Given the description of an element on the screen output the (x, y) to click on. 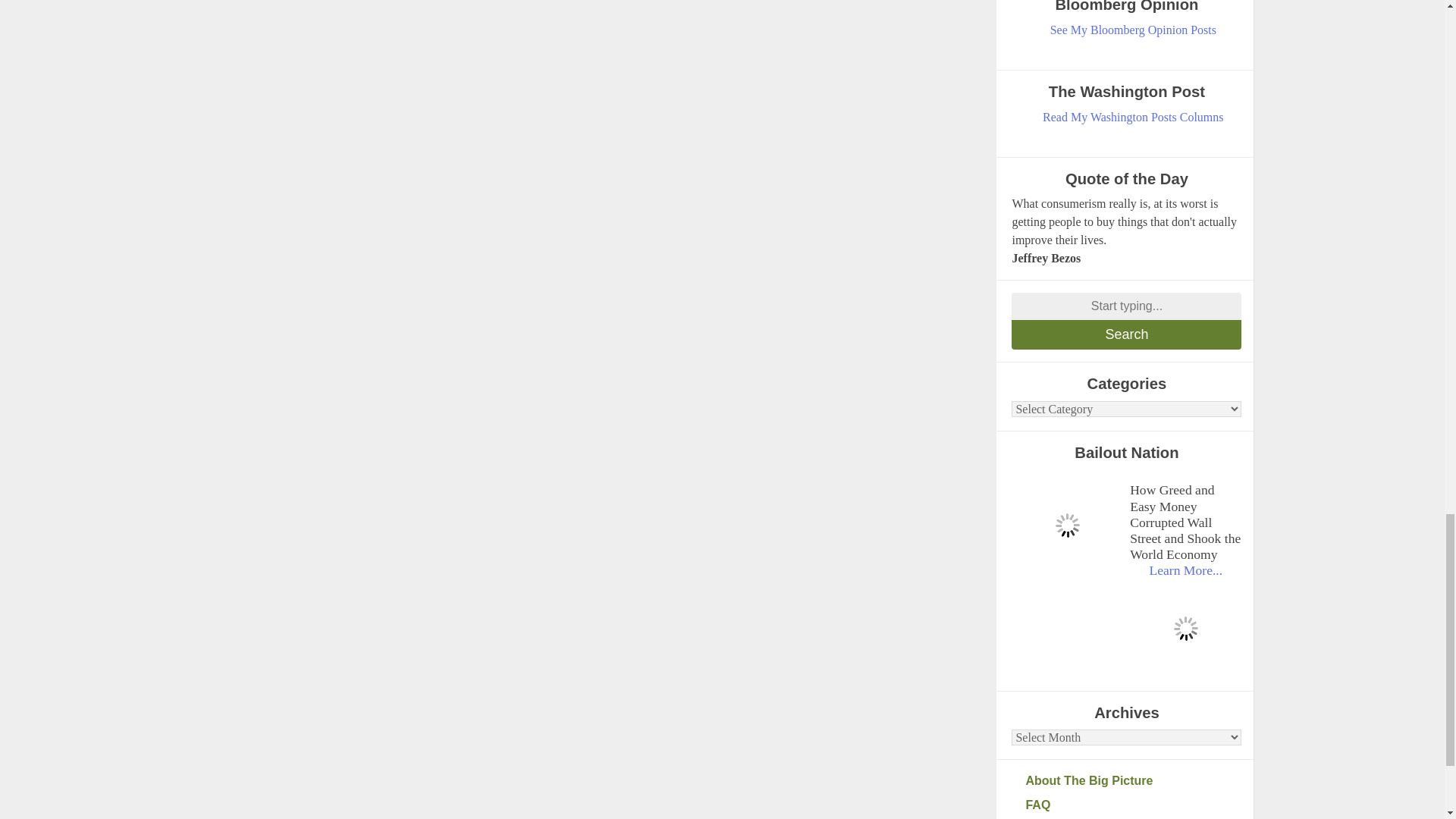
Search (1126, 334)
Bailout Nation (1066, 524)
FAQ (1133, 805)
Search (1126, 334)
See My Bloomberg Opinion Posts (1132, 30)
About The Big Picture (1133, 781)
Learn More... (1185, 570)
Search (1126, 334)
Read My Washington Posts Columns (1132, 117)
